Given the description of an element on the screen output the (x, y) to click on. 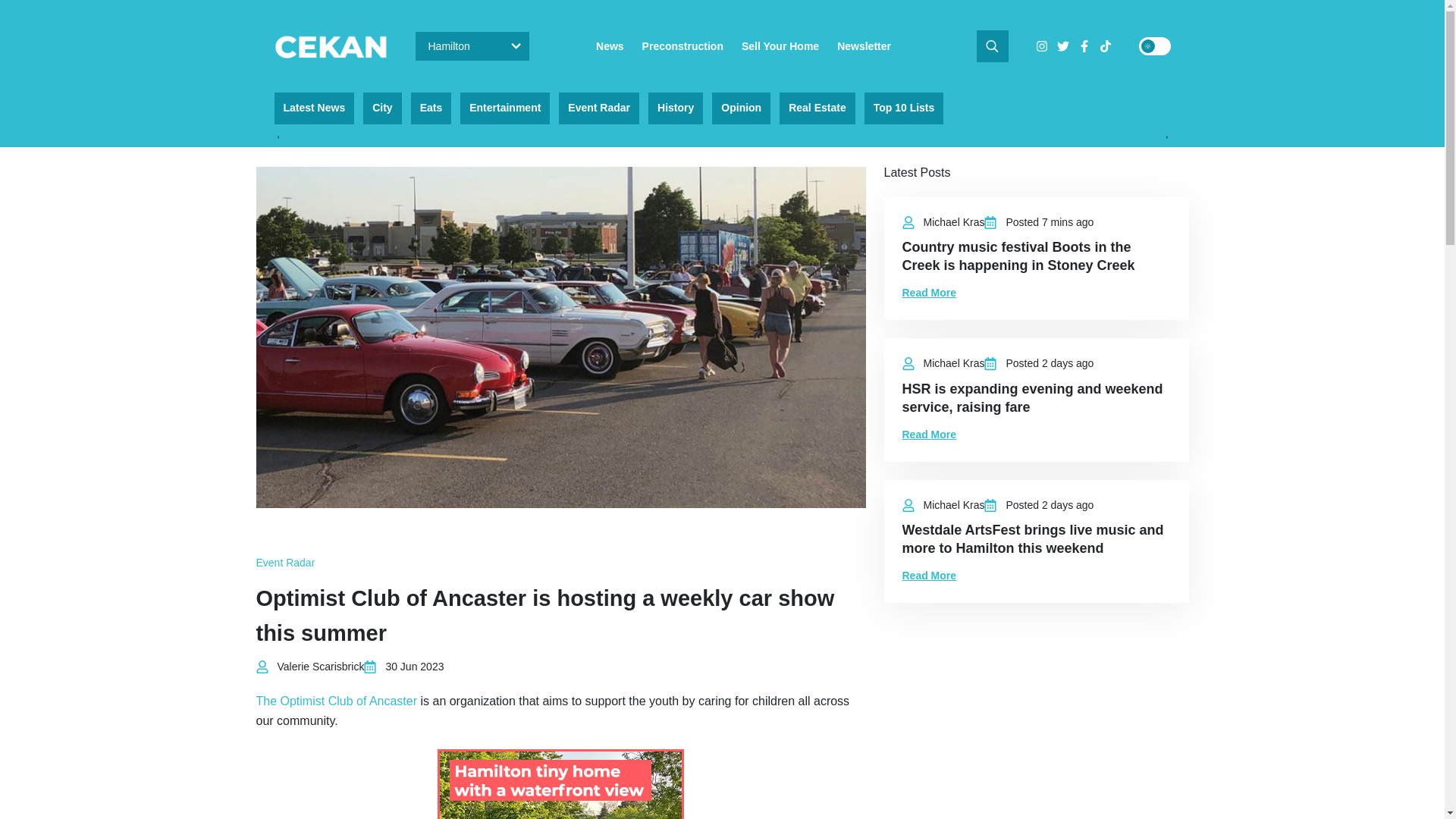
Sell Your Home (779, 46)
Valerie Scarisbrick (321, 666)
Real Estate (816, 107)
History (675, 107)
Top 10 Lists (903, 107)
Event Radar (599, 107)
The Optimist Club of Ancaster (336, 700)
City (381, 107)
Event Radar (285, 562)
News (609, 46)
